Given the description of an element on the screen output the (x, y) to click on. 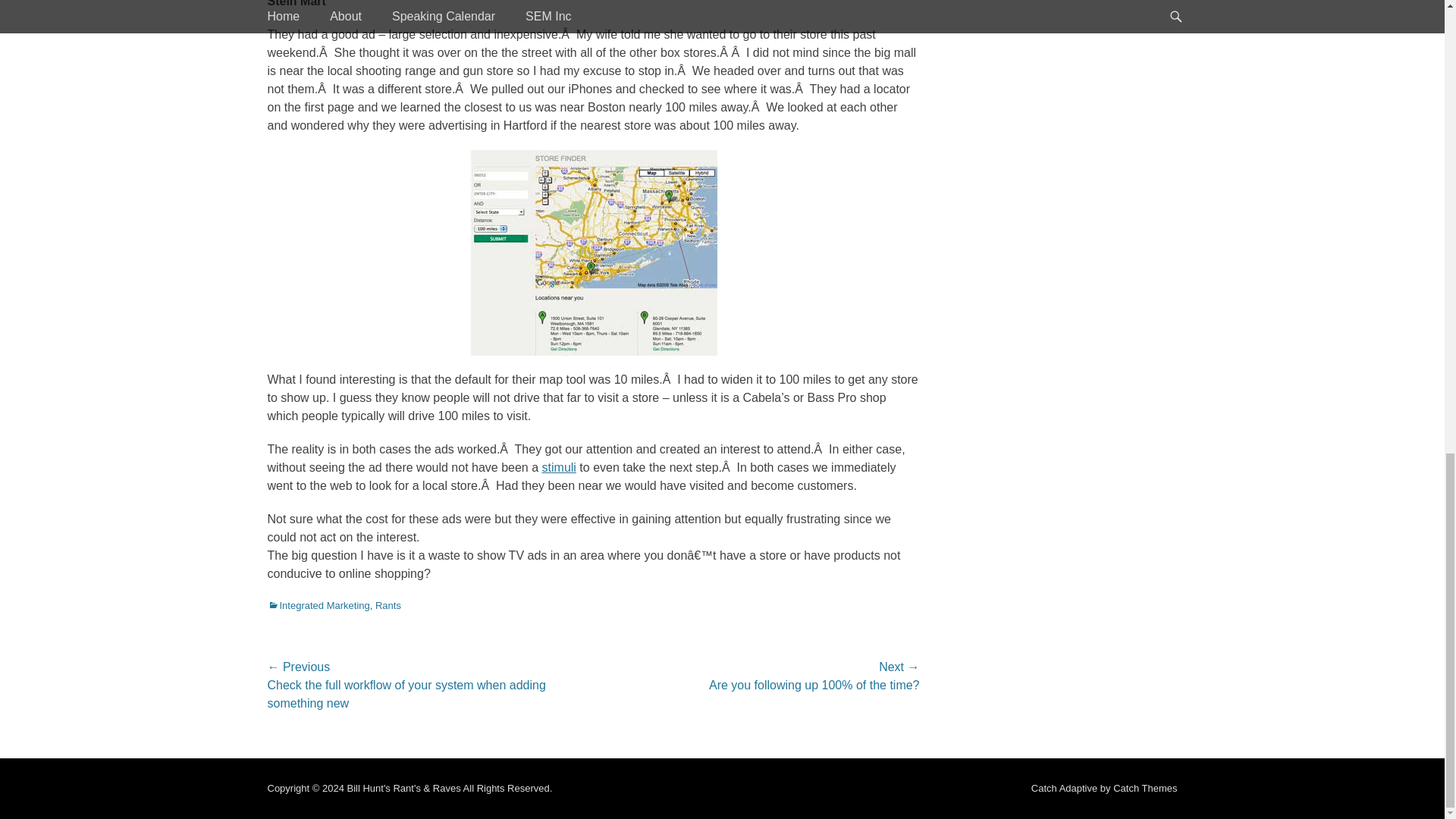
stimuli (558, 467)
Rants (388, 604)
Integrated Marketing (317, 604)
Catch Themes (1144, 787)
